Given the description of an element on the screen output the (x, y) to click on. 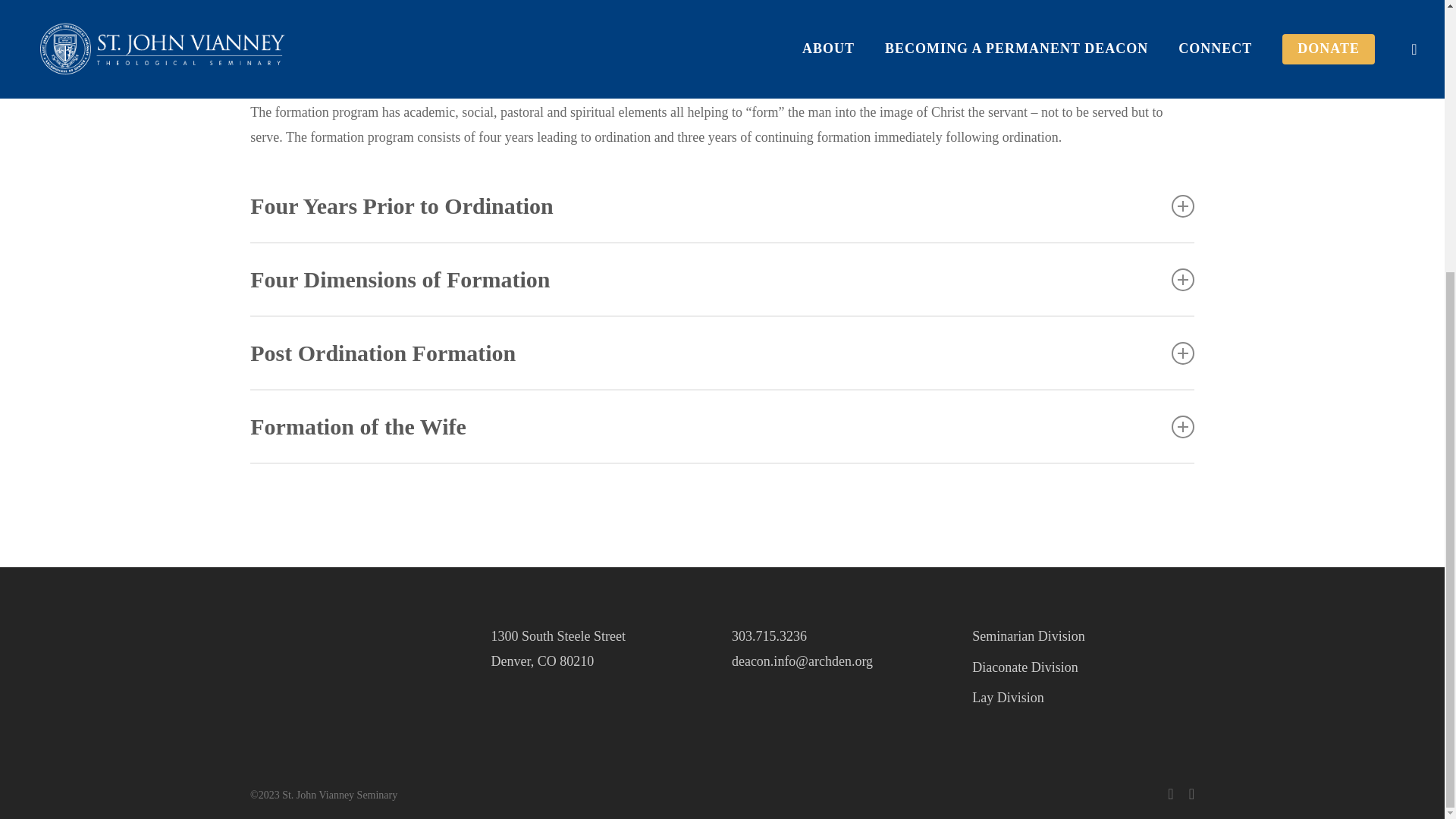
Diaconate Division (1082, 667)
Four Dimensions of Formation (721, 279)
Post Ordination Formation (721, 352)
Denver, CO 80210 (542, 661)
Four Years Prior to Ordination (721, 205)
303.715.3236 (769, 635)
Lay Division (1082, 697)
1300 South Steele Street (557, 635)
Formation of the Wife (721, 426)
Seminarian Division (1082, 636)
